Given the description of an element on the screen output the (x, y) to click on. 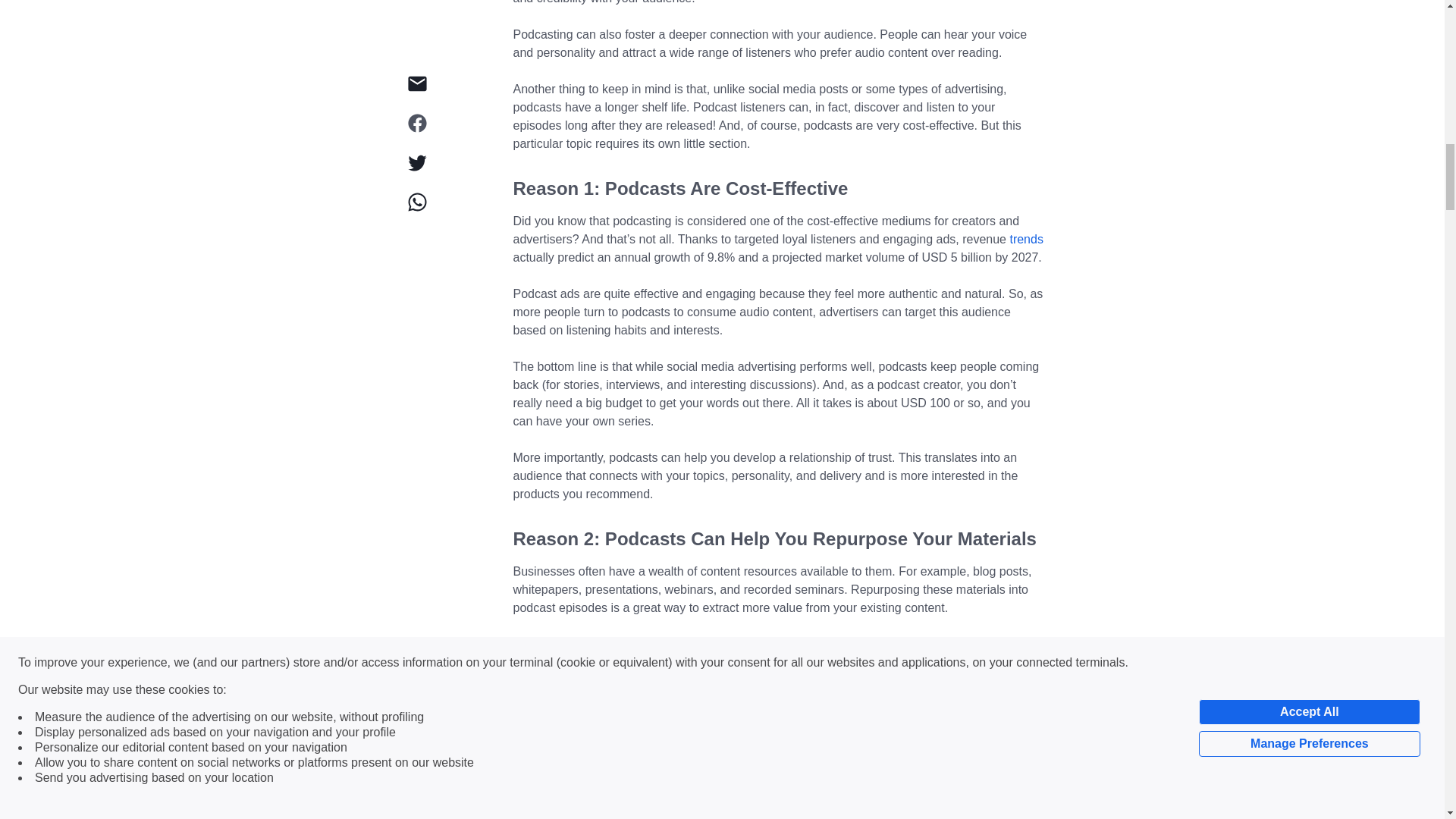
videos (801, 771)
trends (1024, 238)
